Given the description of an element on the screen output the (x, y) to click on. 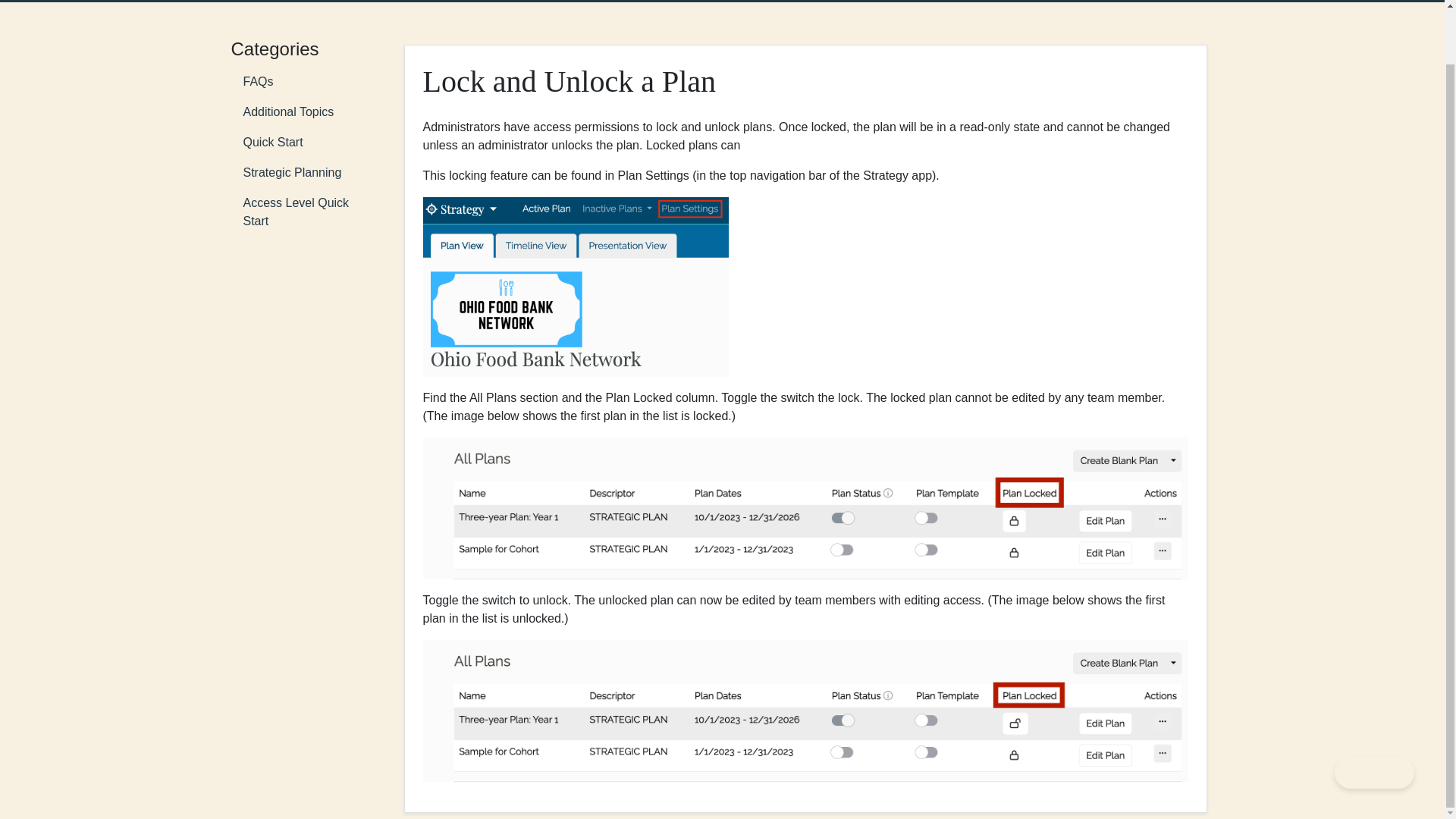
Access Level Quick Start (304, 212)
Additional Topics (304, 112)
FAQs (304, 81)
Quick Start (304, 142)
Strategic Planning (304, 173)
